Given the description of an element on the screen output the (x, y) to click on. 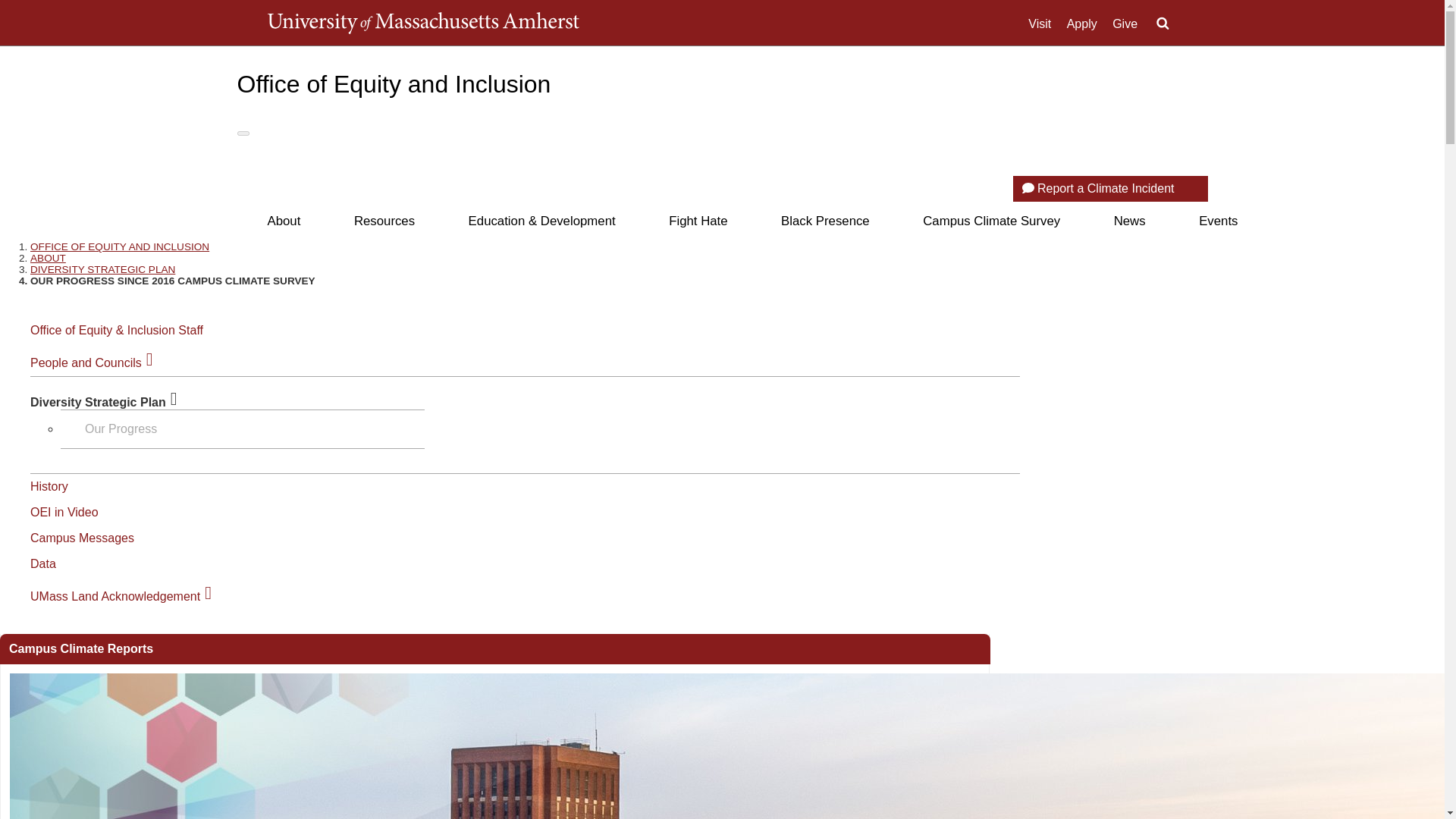
OEI in Video (64, 512)
Visit (1039, 24)
Report (1027, 187)
Resources (383, 220)
History (49, 486)
The University of Massachusetts Amherst (422, 22)
Apply (1082, 24)
UMass Amherst (422, 22)
Our Progress (114, 428)
Data (43, 563)
Office of Equity and Inclusion (392, 83)
News (1129, 220)
Give (1124, 24)
UMass Land Acknowledgement (115, 595)
